Given the description of an element on the screen output the (x, y) to click on. 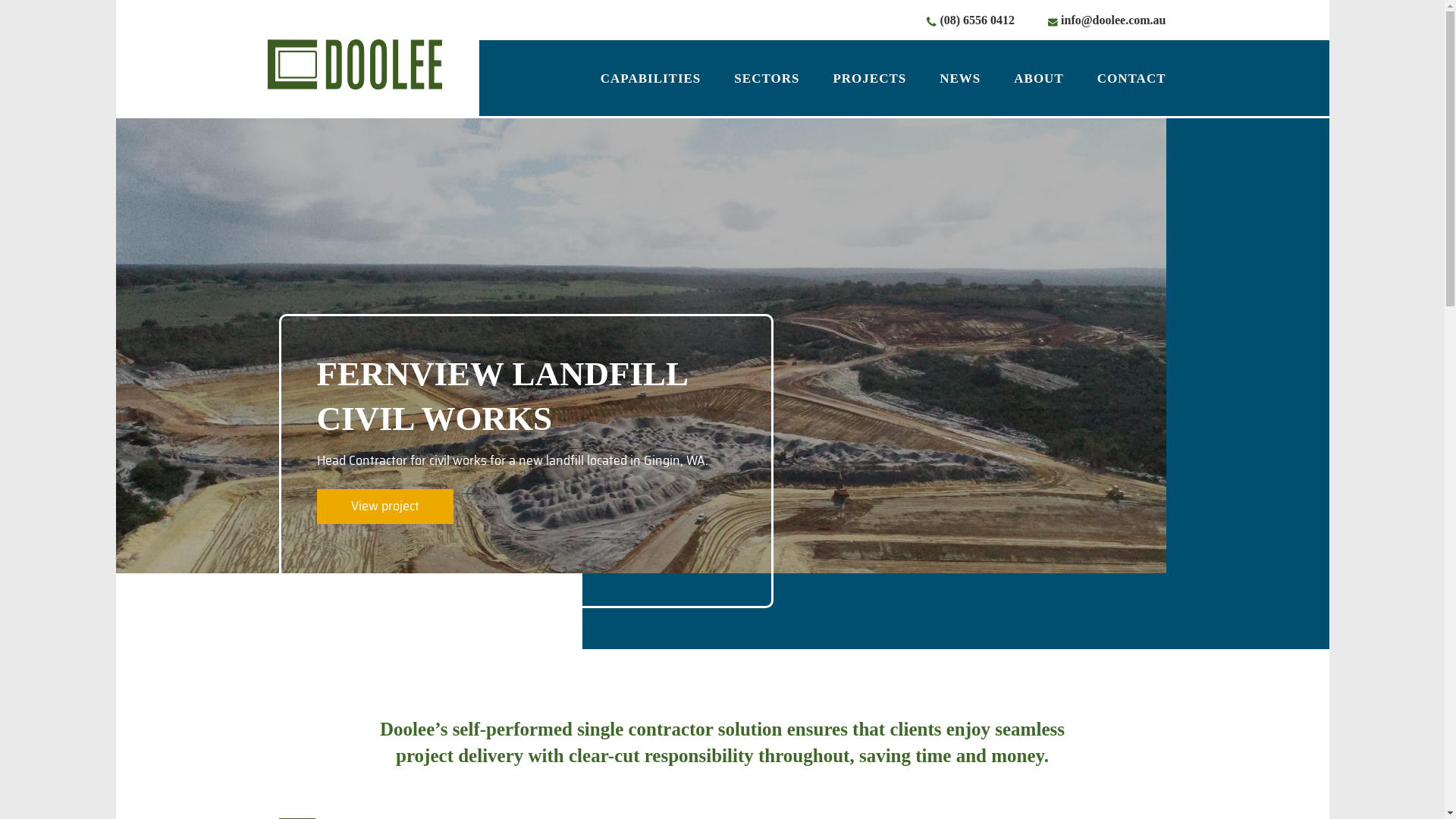
PROJECTS Element type: text (868, 78)
slide_1 Element type: hover (721, 345)
info@doolee.com.au Element type: text (1112, 19)
(08) 6556 0412 Element type: text (976, 19)
NEWS Element type: text (959, 78)
CAPABILITIES Element type: text (650, 78)
SECTORS Element type: text (766, 78)
View project Element type: text (384, 506)
CONTACT Element type: text (1123, 78)
ABOUT Element type: text (1038, 78)
